Given the description of an element on the screen output the (x, y) to click on. 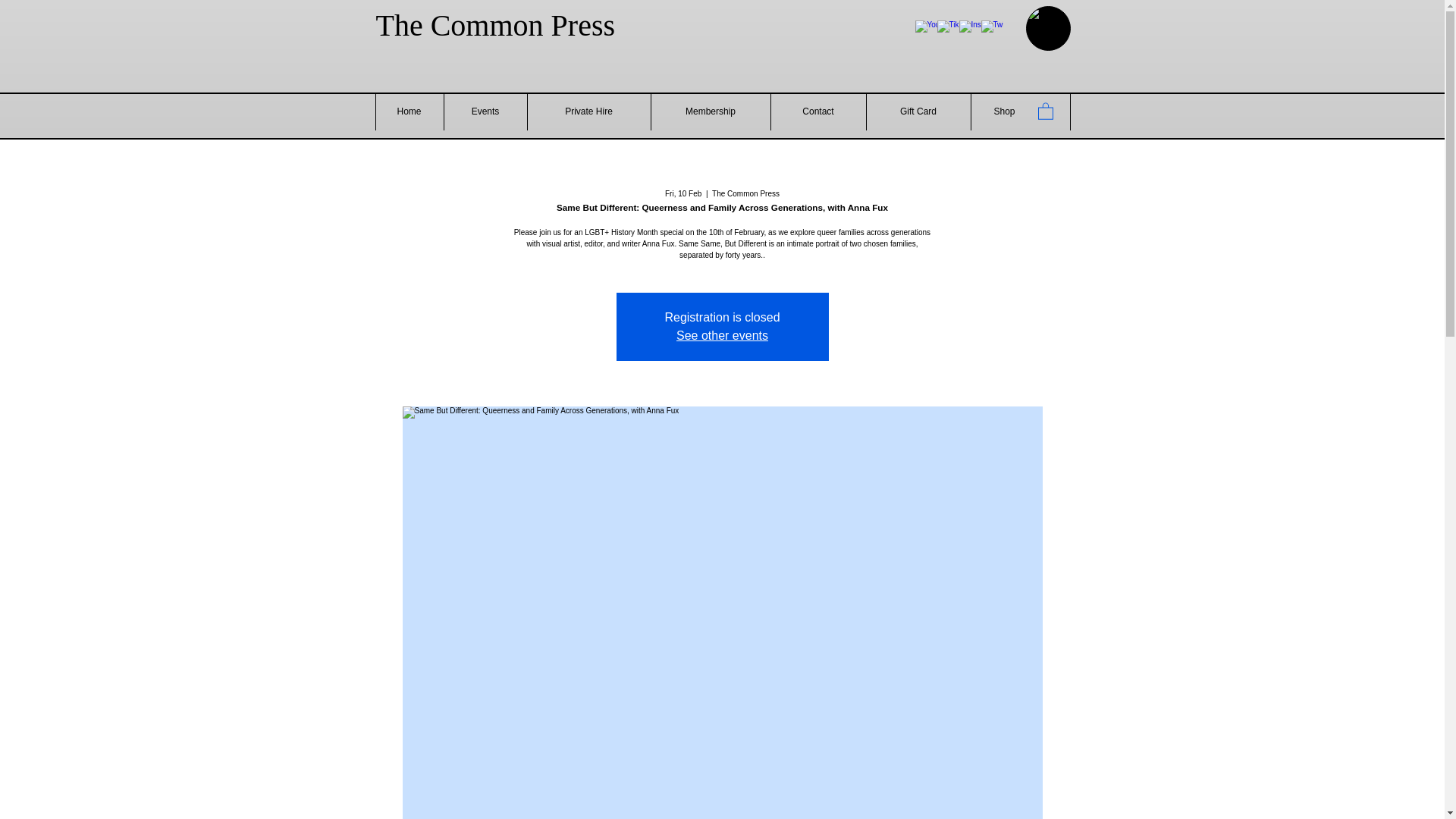
Membership (710, 111)
The Common Press (495, 24)
See other events (722, 335)
Private Hire (587, 111)
Contact (818, 111)
Gift Card (918, 111)
Home (408, 111)
Shop (1004, 111)
Events (483, 111)
